Given the description of an element on the screen output the (x, y) to click on. 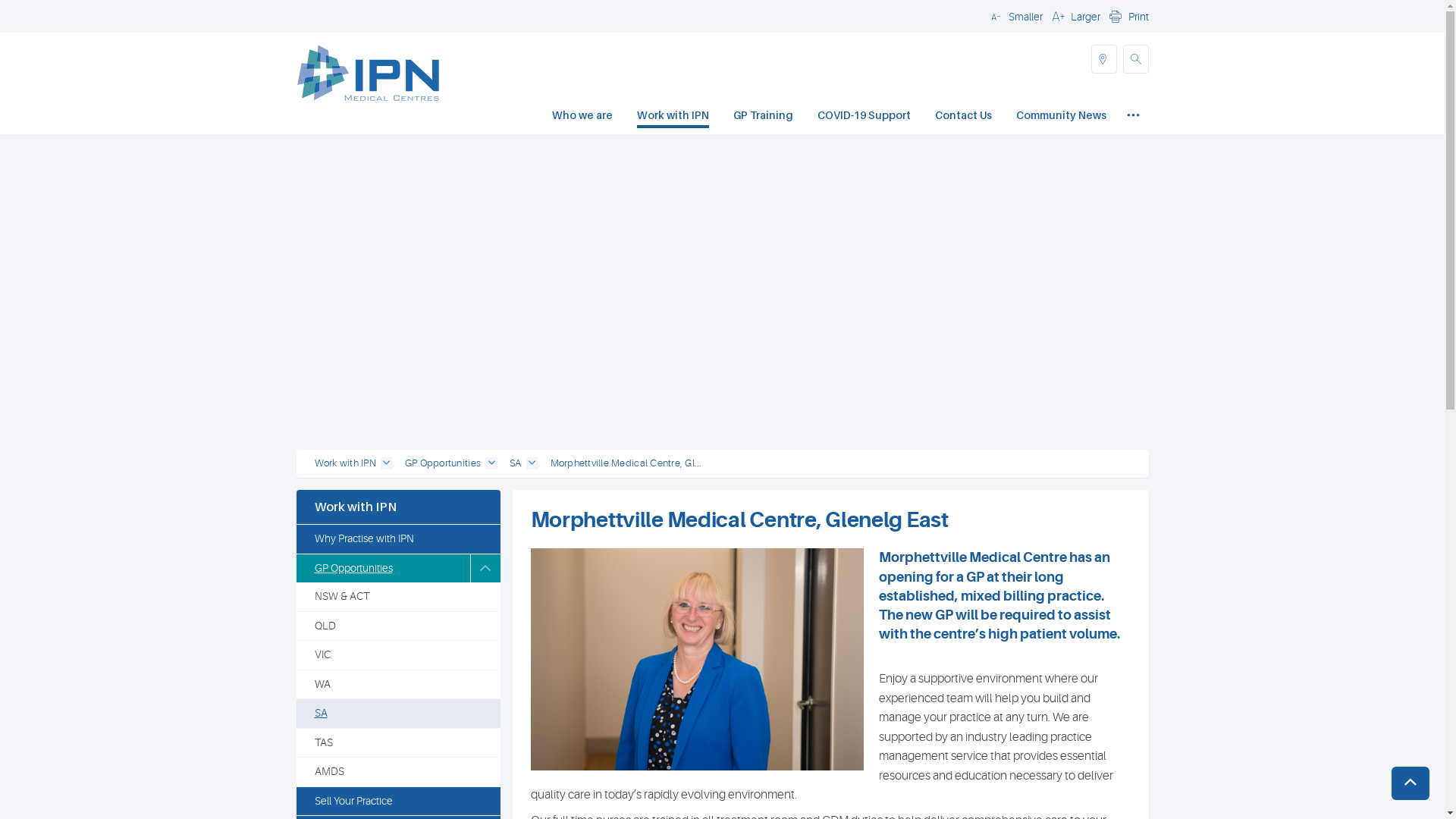
SA Element type: text (515, 463)
Smaller Element type: text (1013, 15)
GP Training Element type: text (762, 116)
Larger Element type: text (1073, 15)
open dropdown Element type: hover (491, 463)
AMDS Element type: text (397, 771)
COVID-19 Support Element type: text (863, 116)
NSW & ACT Element type: text (397, 596)
WA Element type: text (397, 684)
Contact Us Element type: text (962, 116)
SA Element type: text (397, 713)
Why Practise with IPN Element type: text (397, 538)
TAS Element type: text (397, 742)
Work with IPN Element type: text (673, 116)
Who we are Element type: text (582, 116)
QLD Element type: text (397, 625)
location Element type: hover (1103, 58)
Sell Your Practice Element type: text (397, 801)
Work with IPN Element type: text (397, 506)
VIC Element type: text (397, 654)
GP Opportunities Element type: text (442, 463)
Work with IPN Element type: text (344, 463)
Print Element type: text (1126, 15)
open dropdown Element type: hover (386, 463)
Morphettville Medical Centre, Gl... Element type: text (626, 463)
open dropdown Element type: hover (532, 463)
GP Opportunities Element type: text (382, 568)
Community News Element type: text (1061, 116)
